Given the description of an element on the screen output the (x, y) to click on. 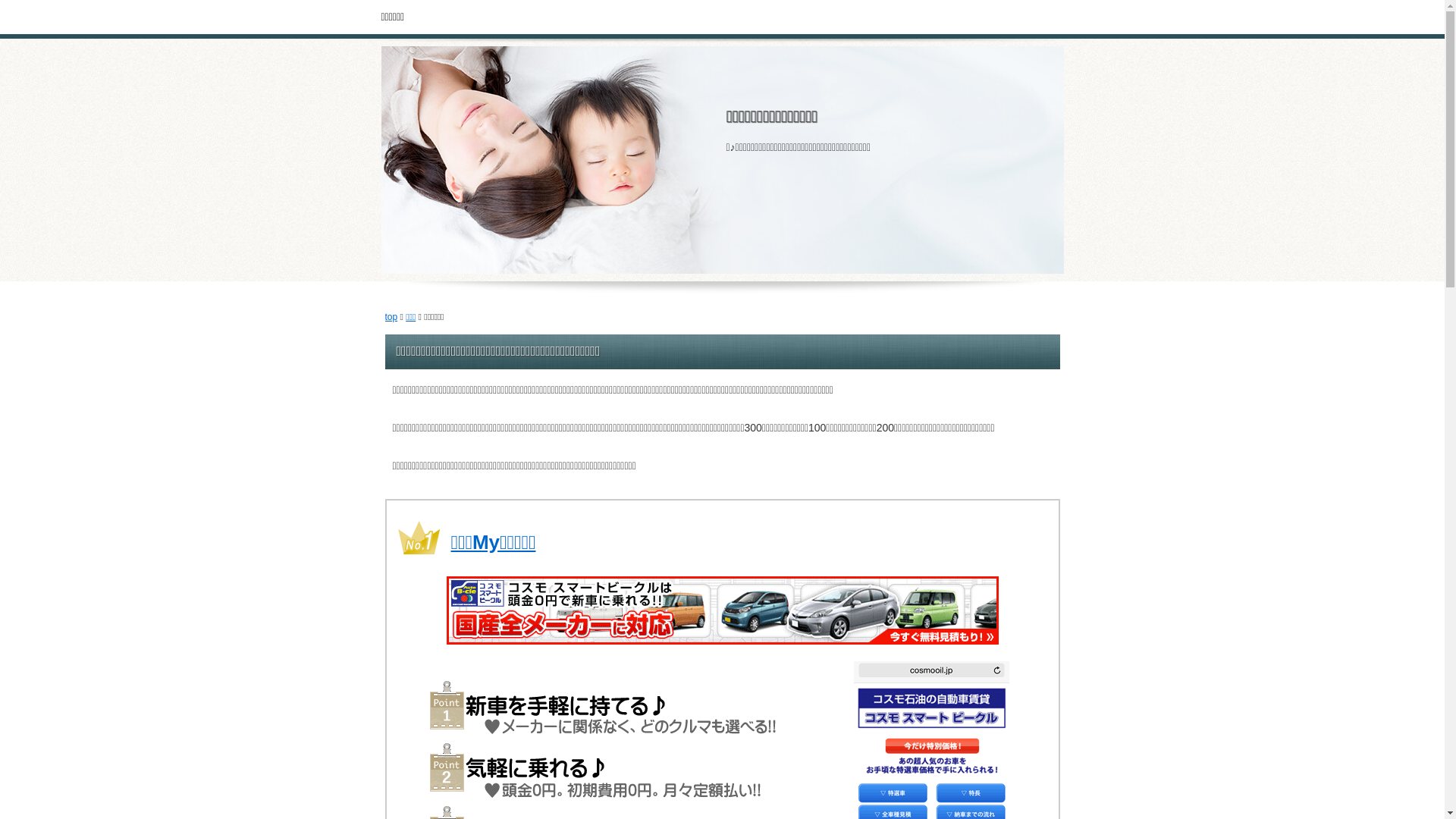
top Element type: text (391, 316)
